Given the description of an element on the screen output the (x, y) to click on. 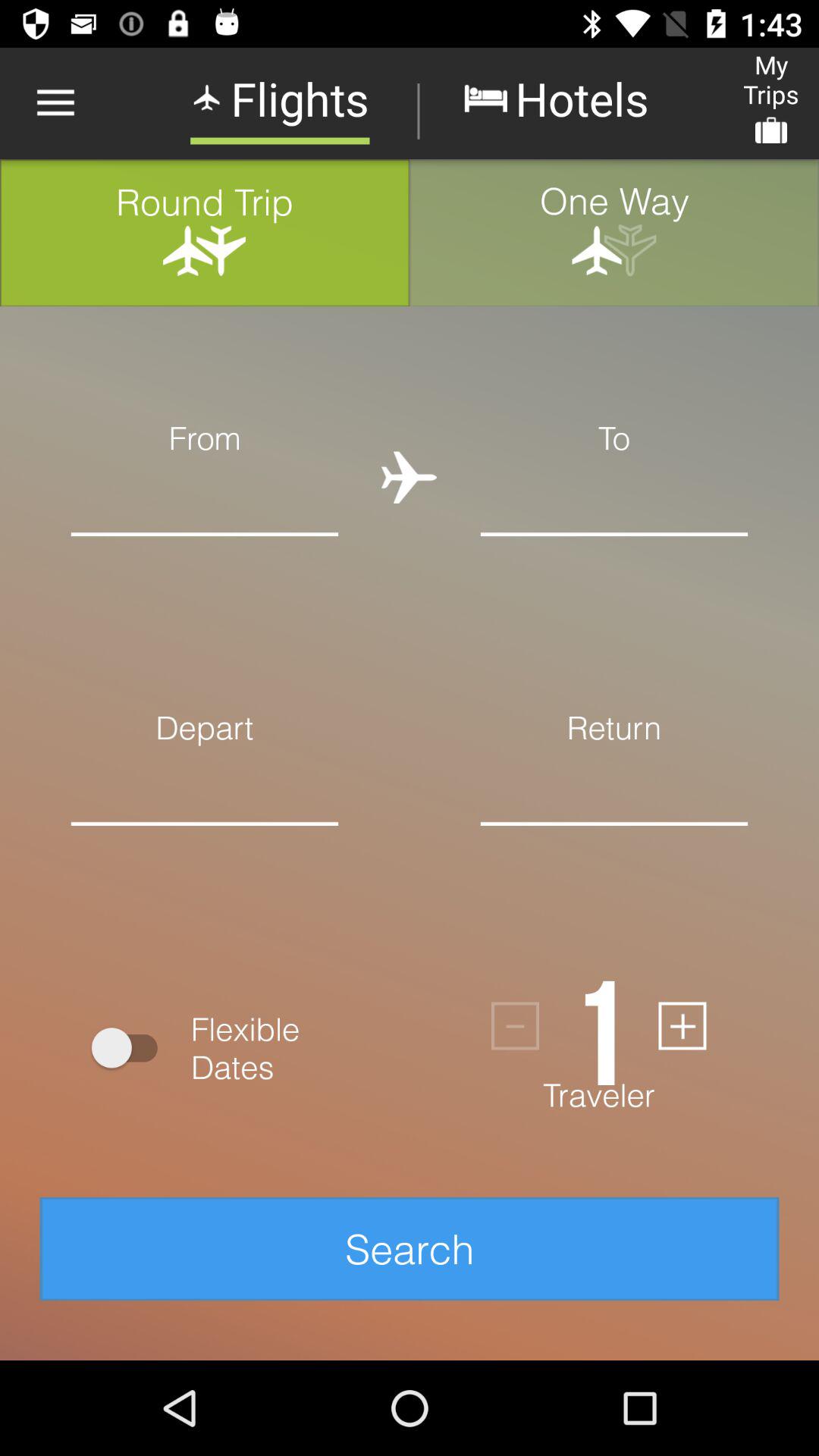
choose depart icon (204, 727)
